Given the description of an element on the screen output the (x, y) to click on. 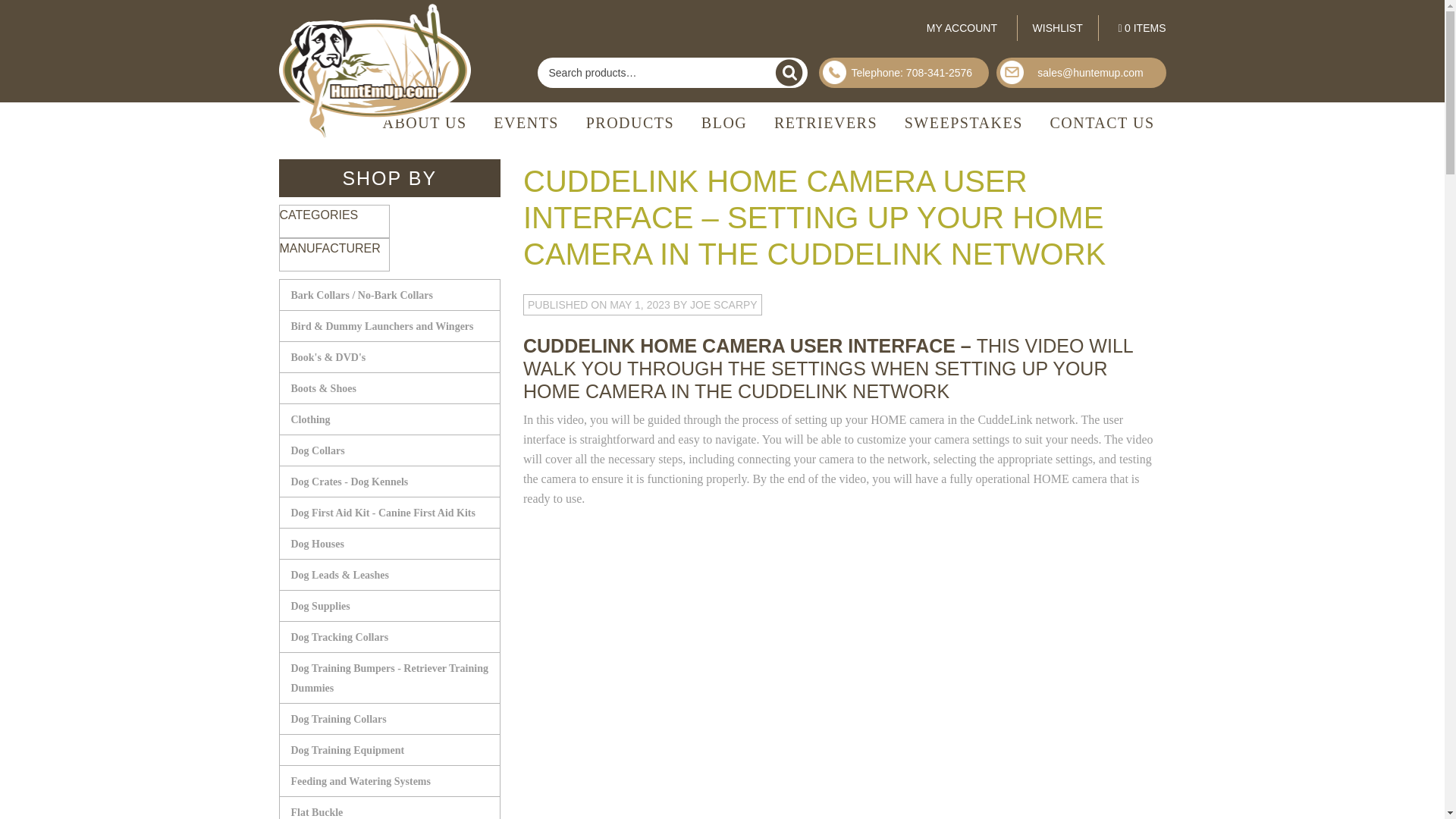
RETRIEVERS (825, 123)
EVENTS (525, 123)
Search (789, 72)
HUNTEMUP (377, 72)
BLOG (724, 123)
CONTACT US (1102, 123)
WISHLIST (1057, 27)
JOE SCARPY (723, 304)
PRODUCTS (630, 123)
CuddeLink Home User Interface (712, 649)
